Given the description of an element on the screen output the (x, y) to click on. 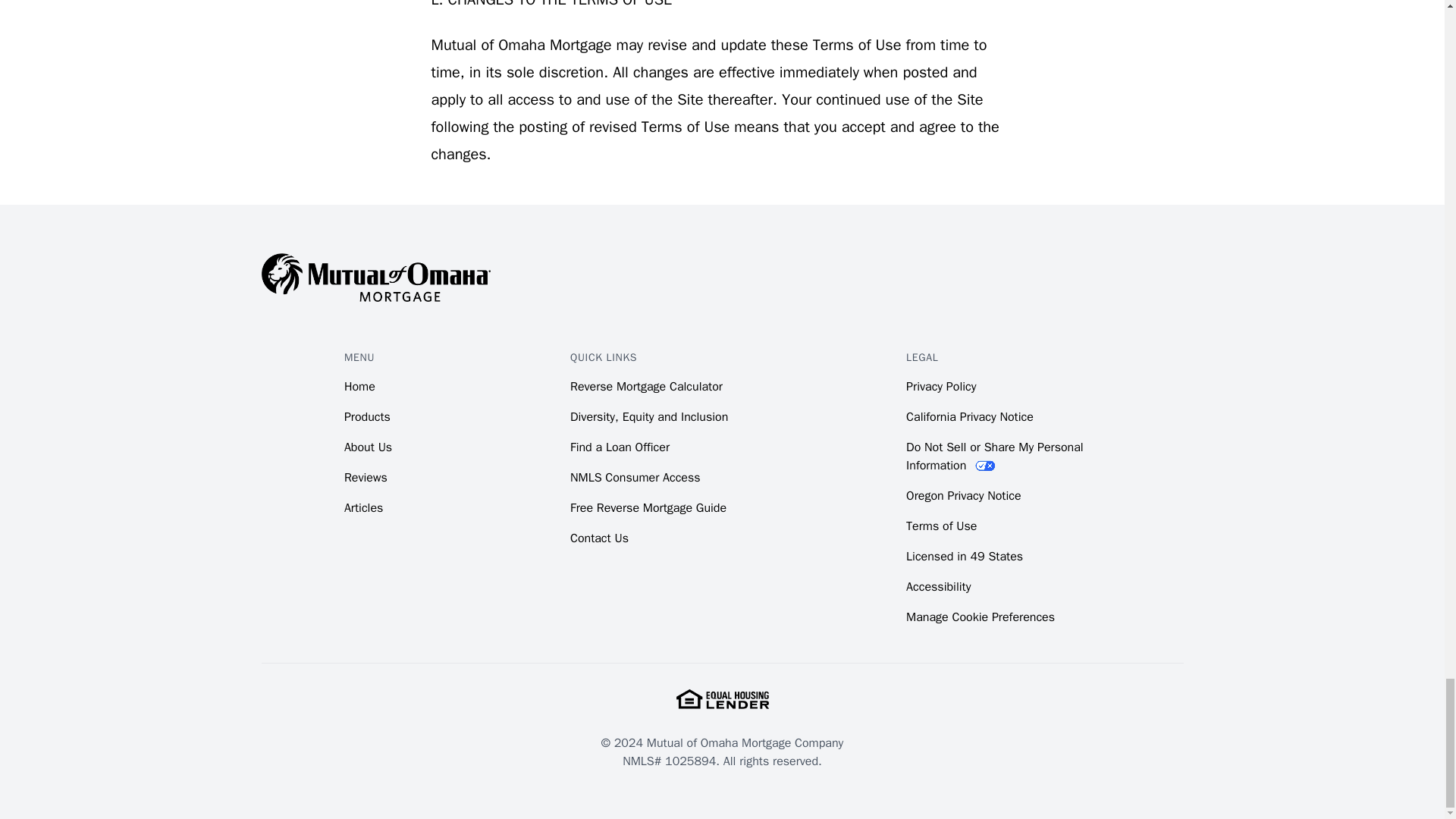
About Us (367, 447)
Articles (362, 507)
Home (359, 386)
Diversity, Equity and Inclusion (649, 417)
Contact Us (599, 538)
Manage Cookie Preferences (979, 617)
NMLS Consumer Access (635, 477)
Find a Loan Officer (619, 447)
California Privacy Notice (969, 417)
Accessibility (938, 586)
Reviews (365, 477)
Terms of Use (940, 525)
Reverse Mortgage Calculator (646, 386)
Licensed in 49 States (964, 556)
Do Not Sell or Share My Personal Information (994, 456)
